Given the description of an element on the screen output the (x, y) to click on. 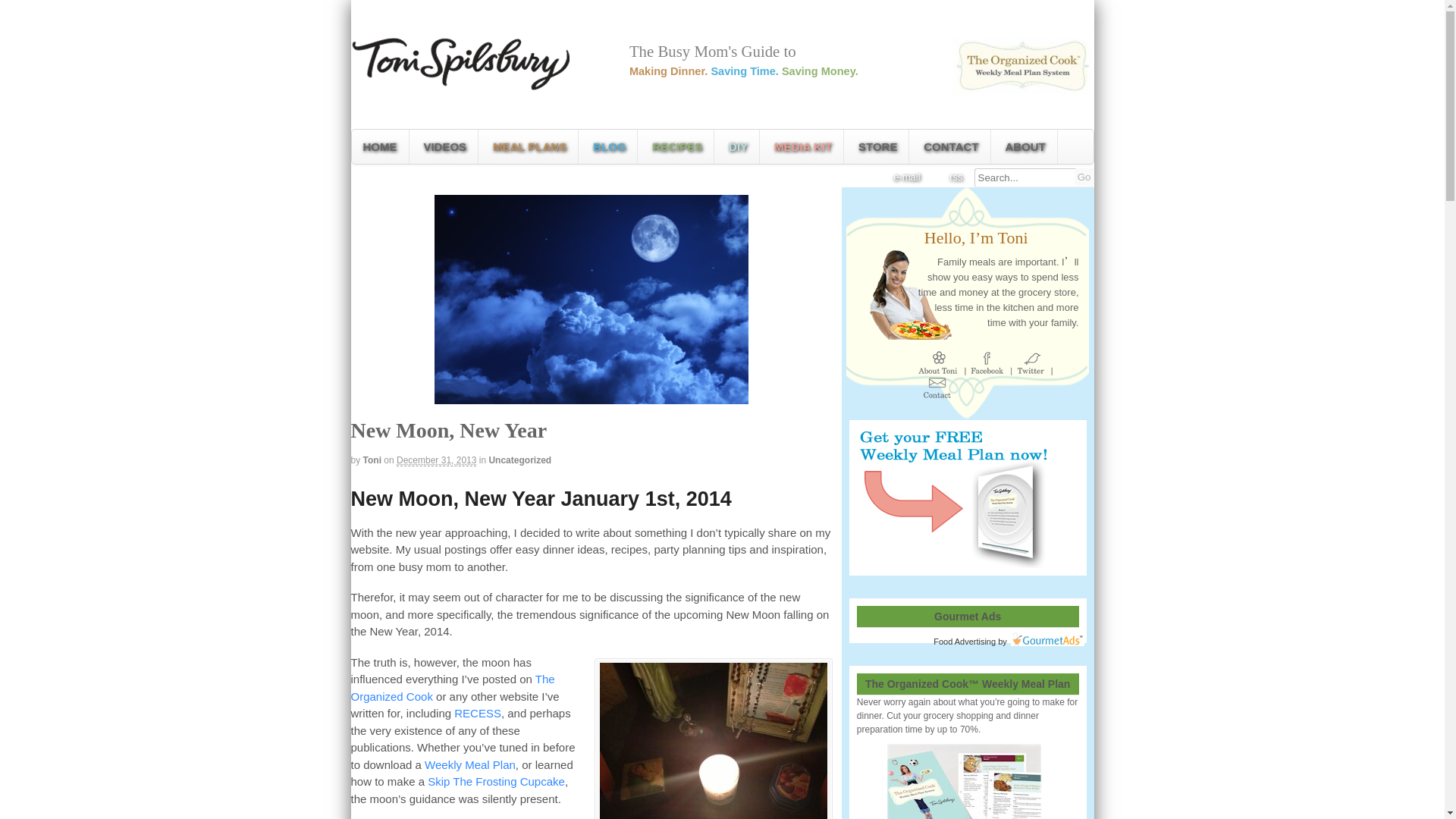
Go (1084, 176)
Uncategorized (519, 460)
BLOG (608, 146)
Search... (1028, 177)
Posts by Toni (371, 460)
Skip The Frosting Cupcake (496, 780)
ABOUT (1024, 146)
MEDIA KIT (802, 146)
VIDEOS (444, 146)
The Organized Cook (452, 687)
